Given the description of an element on the screen output the (x, y) to click on. 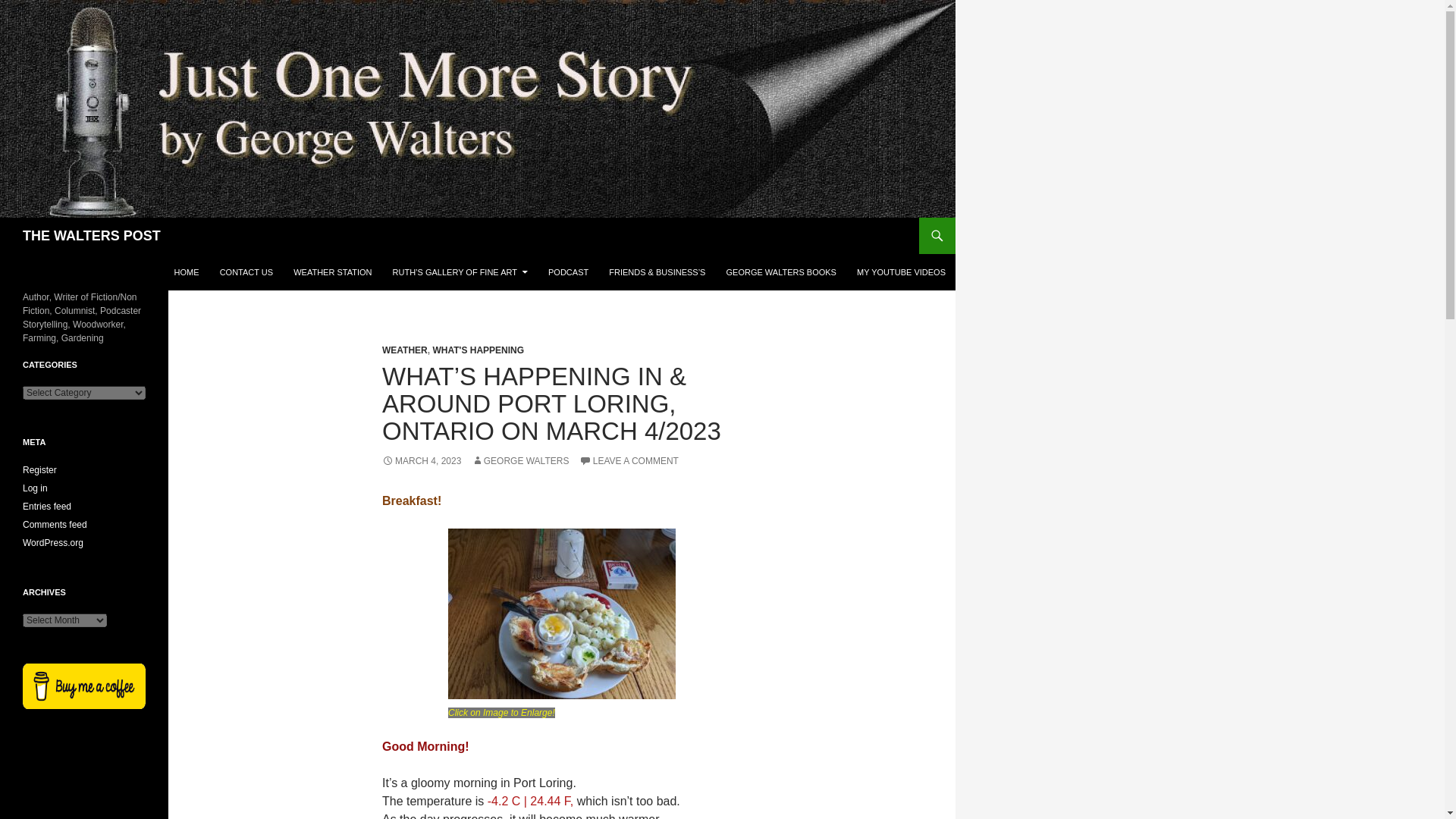
WEATHER (404, 349)
Comments feed (55, 524)
WEATHER STATION (331, 271)
PODCAST (567, 271)
THE WALTERS POST (91, 235)
WordPress.org (52, 542)
LEAVE A COMMENT (628, 460)
GEORGE WALTERS BOOKS (780, 271)
HOME (186, 271)
CONTACT US (246, 271)
